Given the description of an element on the screen output the (x, y) to click on. 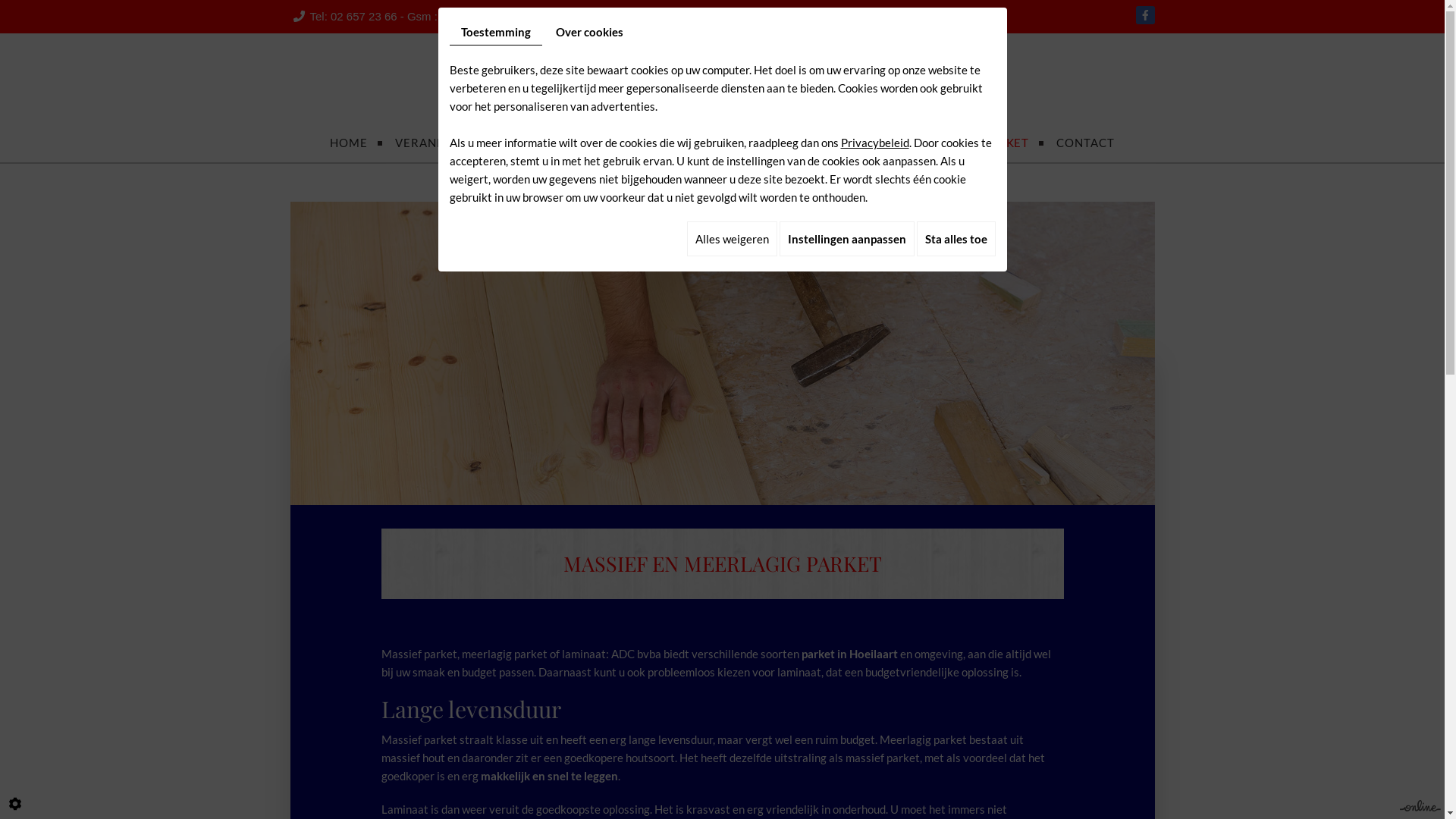
ROLLUIKEN Element type: text (757, 142)
CONTACT Element type: text (1084, 142)
HOME Element type: text (348, 142)
Facebook Element type: hover (1144, 15)
Alles weigeren Element type: text (732, 238)
Sta alles toe Element type: text (955, 238)
Alg. Schrijnwerkerij Alain Decat - Schrijnwerker Element type: hover (721, 84)
Toestemming Element type: text (494, 31)
RAMEN EN DEUREN Element type: text (637, 142)
Instellingen aanpassen Element type: text (846, 238)
Privacybeleid Element type: text (874, 142)
Over cookies Element type: text (589, 31)
Cookie-instelling bewerken Element type: text (14, 803)
PARKET Element type: text (1005, 142)
SECTIONALEPOORTEN Element type: text (887, 142)
